Given the description of an element on the screen output the (x, y) to click on. 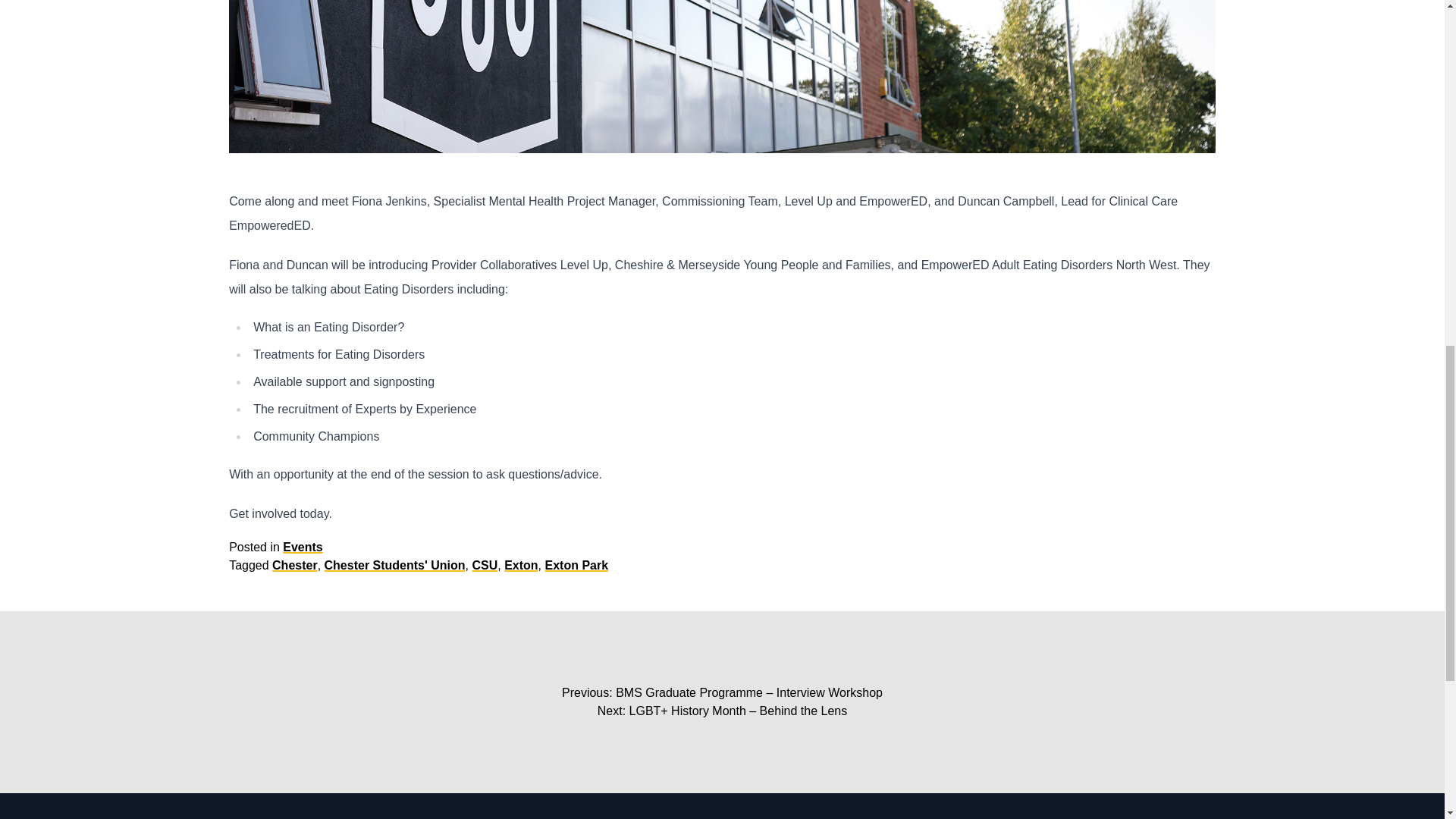
Chester Students' Union (394, 564)
Exton Park (576, 564)
Events (301, 546)
Chester (294, 564)
Exton (520, 564)
CSU (484, 564)
